Given the description of an element on the screen output the (x, y) to click on. 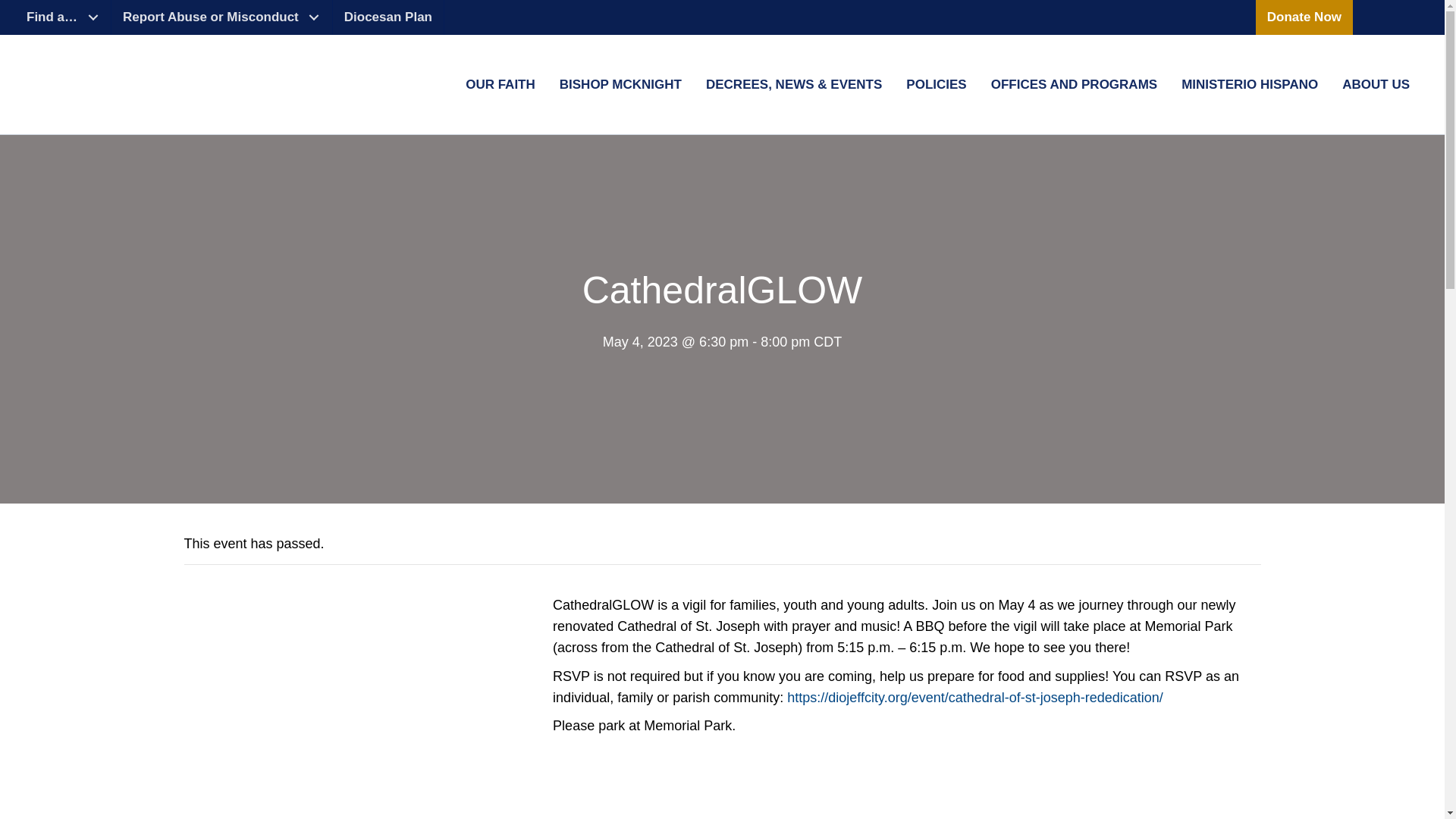
Report Abuse or Misconduct (222, 17)
Diocesan Plan (388, 17)
BISHOP MCKNIGHT (620, 84)
DJC Official Logo (98, 80)
OUR FAITH (499, 84)
DJC ButtonLogo 2021 (1391, 17)
Donate Now (1303, 17)
